Given the description of an element on the screen output the (x, y) to click on. 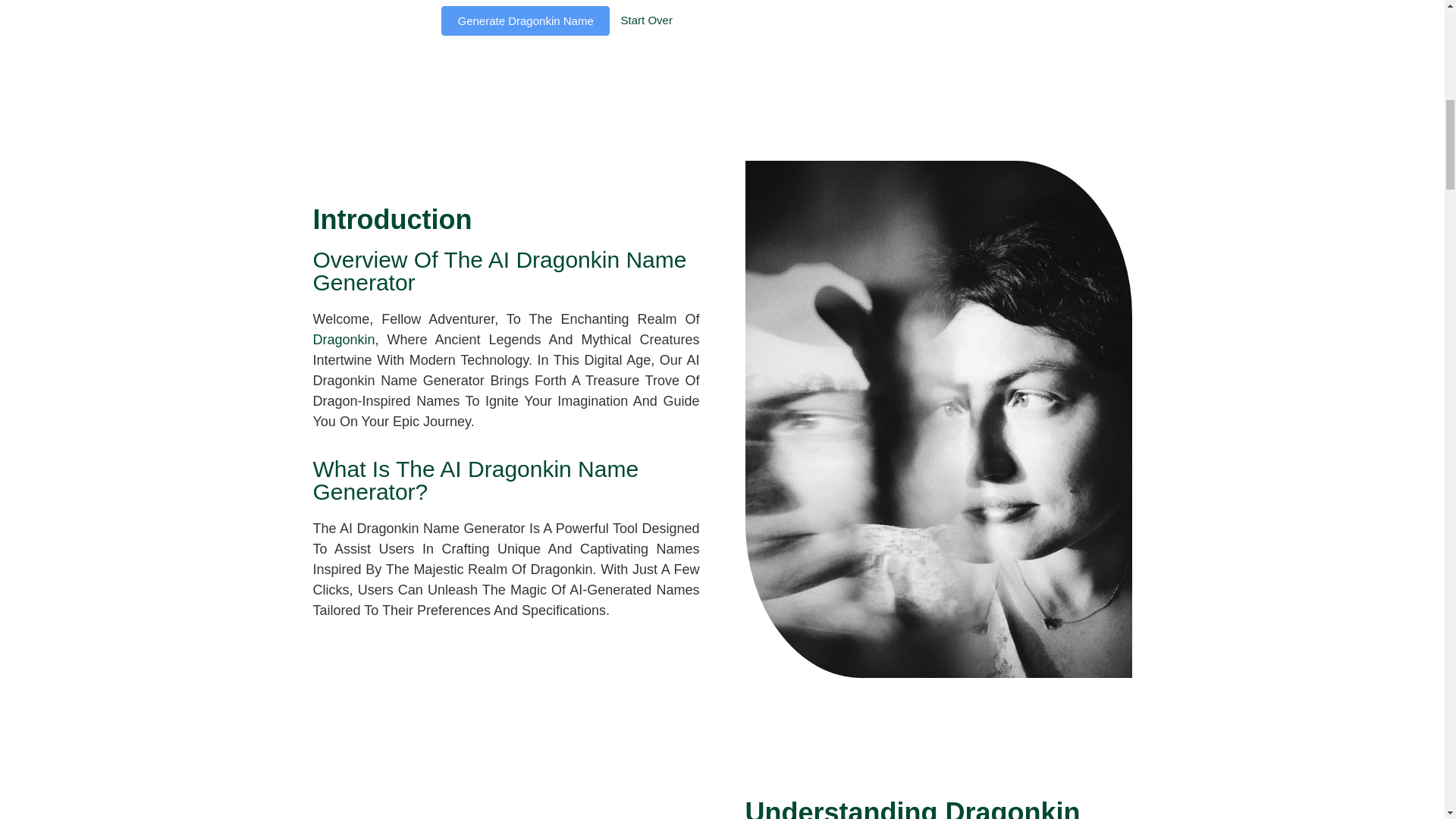
Dragonkin (343, 339)
Generate Dragonkin Name (524, 20)
Start Over (646, 20)
